Given the description of an element on the screen output the (x, y) to click on. 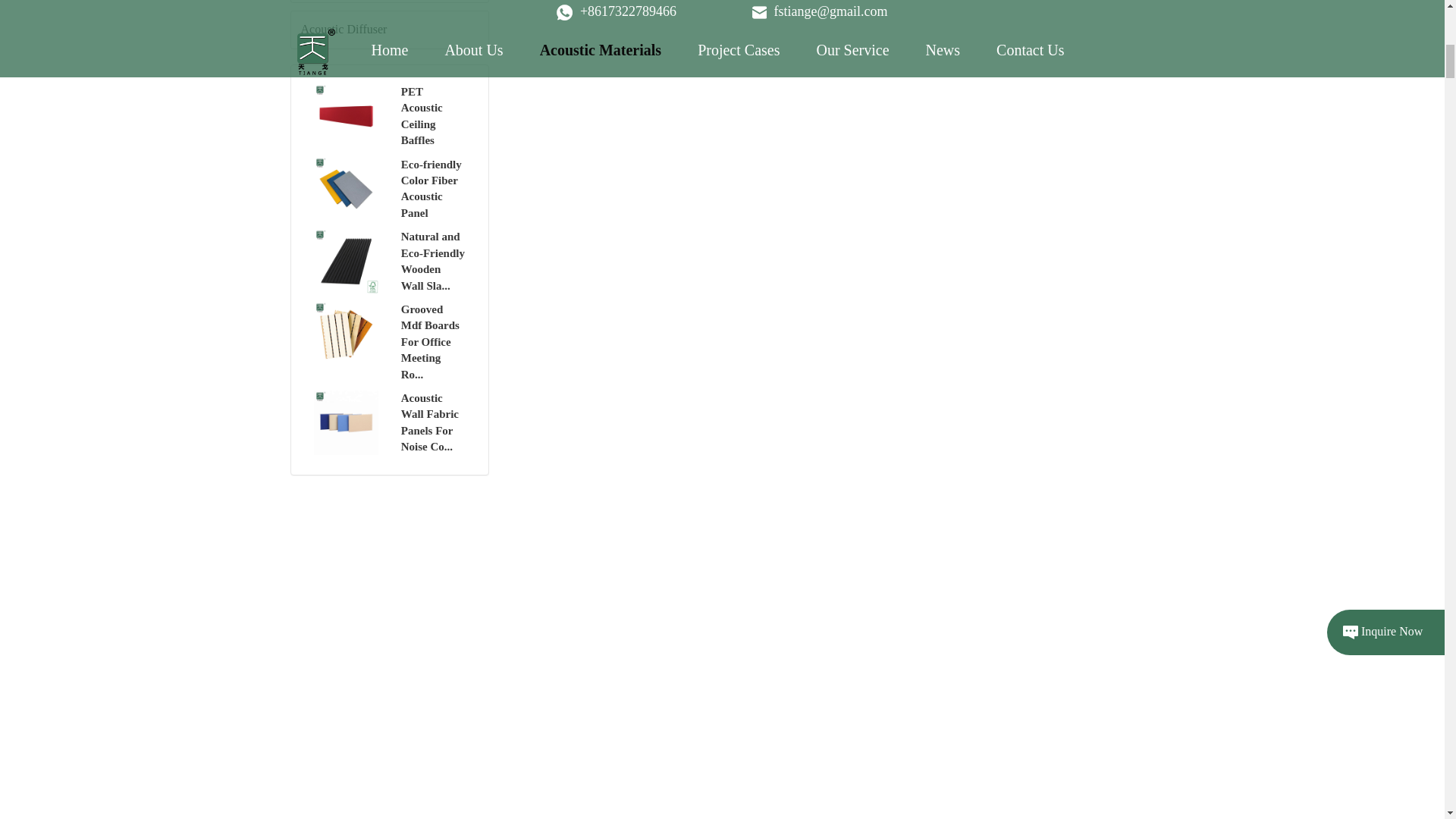
Natural and Eco-Friendly Wooden Wall Slat Panels (389, 261)
Grooved Mdf Boards For Office Meeting Room (389, 342)
Sound Insulation Materials (389, 1)
Acoustic Diffuser (389, 29)
PET Acoustic Ceiling Baffles (389, 116)
Eco-friendly Color Fiber Acoustic Panel (389, 189)
